Given the description of an element on the screen output the (x, y) to click on. 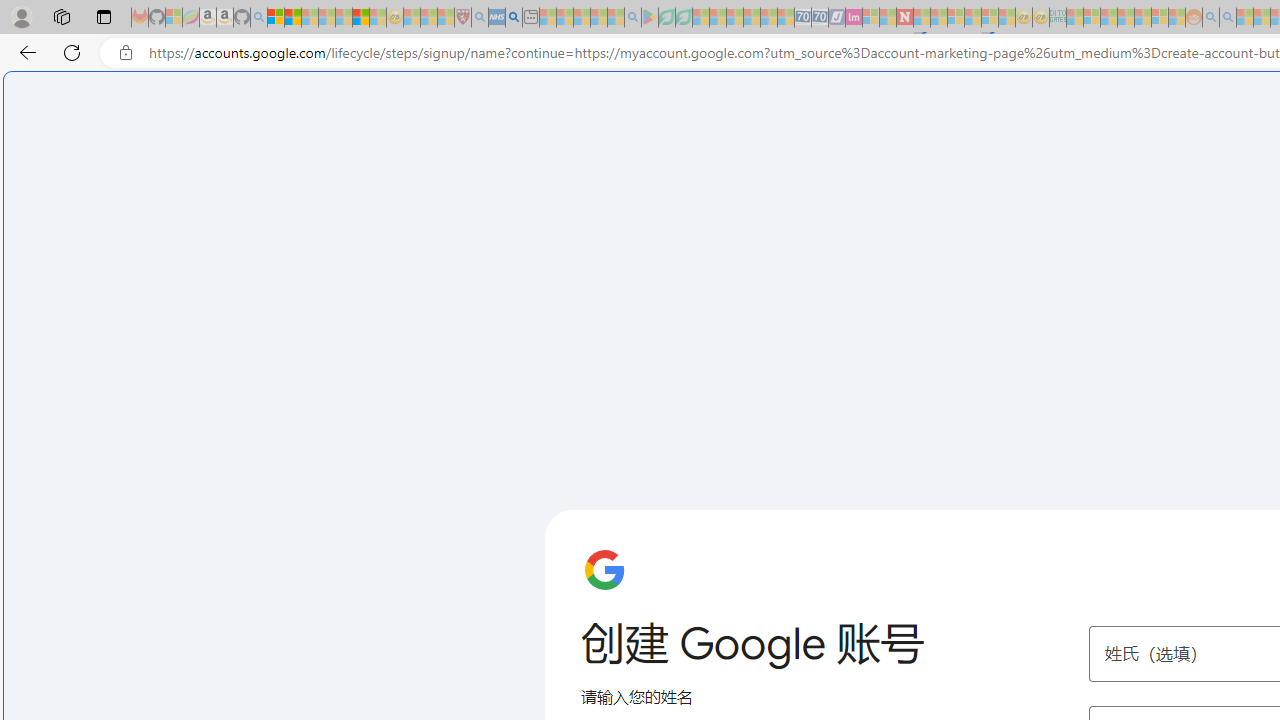
Jobs - lastminute.com Investor Portal - Sleeping (853, 17)
google - Search - Sleeping (632, 17)
